Given the description of an element on the screen output the (x, y) to click on. 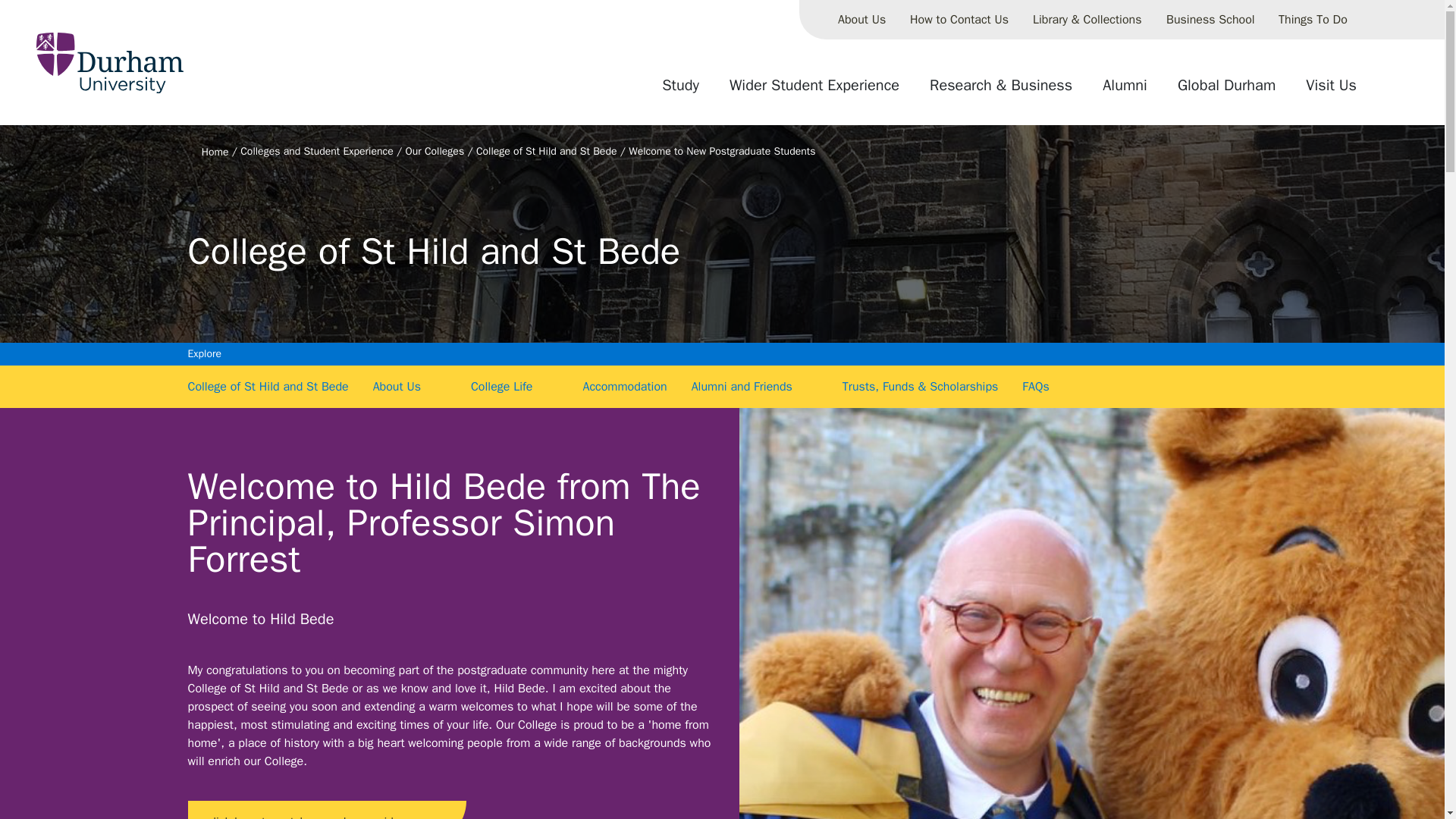
Global Durham (1226, 91)
Business School (1210, 19)
Visit Us (1331, 91)
How to Contact Us (959, 19)
Alumni (1124, 91)
About Us (861, 19)
Things To Do (1312, 19)
Study (680, 91)
Wider Student Experience (814, 91)
